Given the description of an element on the screen output the (x, y) to click on. 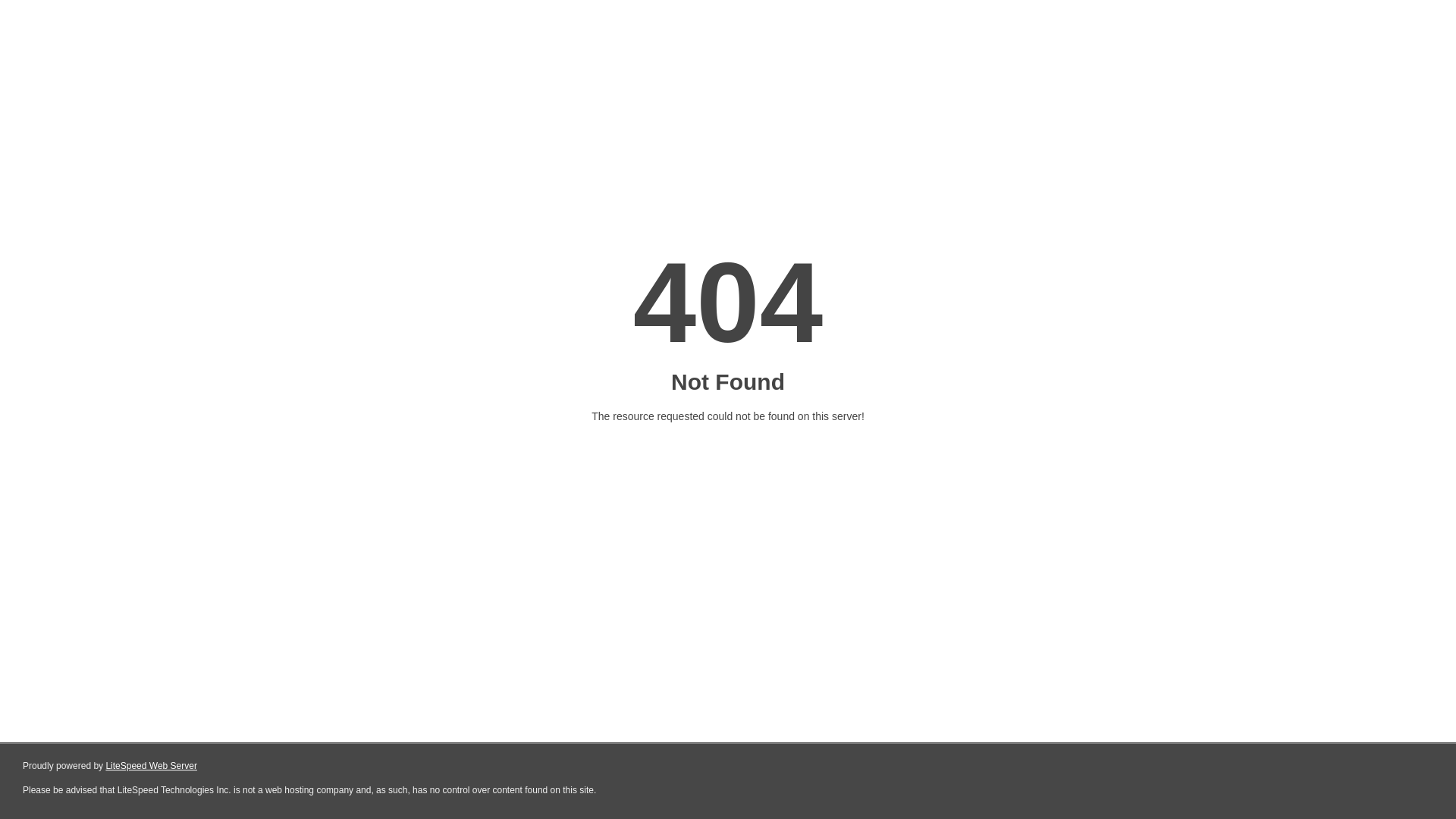
LiteSpeed Web Server Element type: text (151, 765)
